Given the description of an element on the screen output the (x, y) to click on. 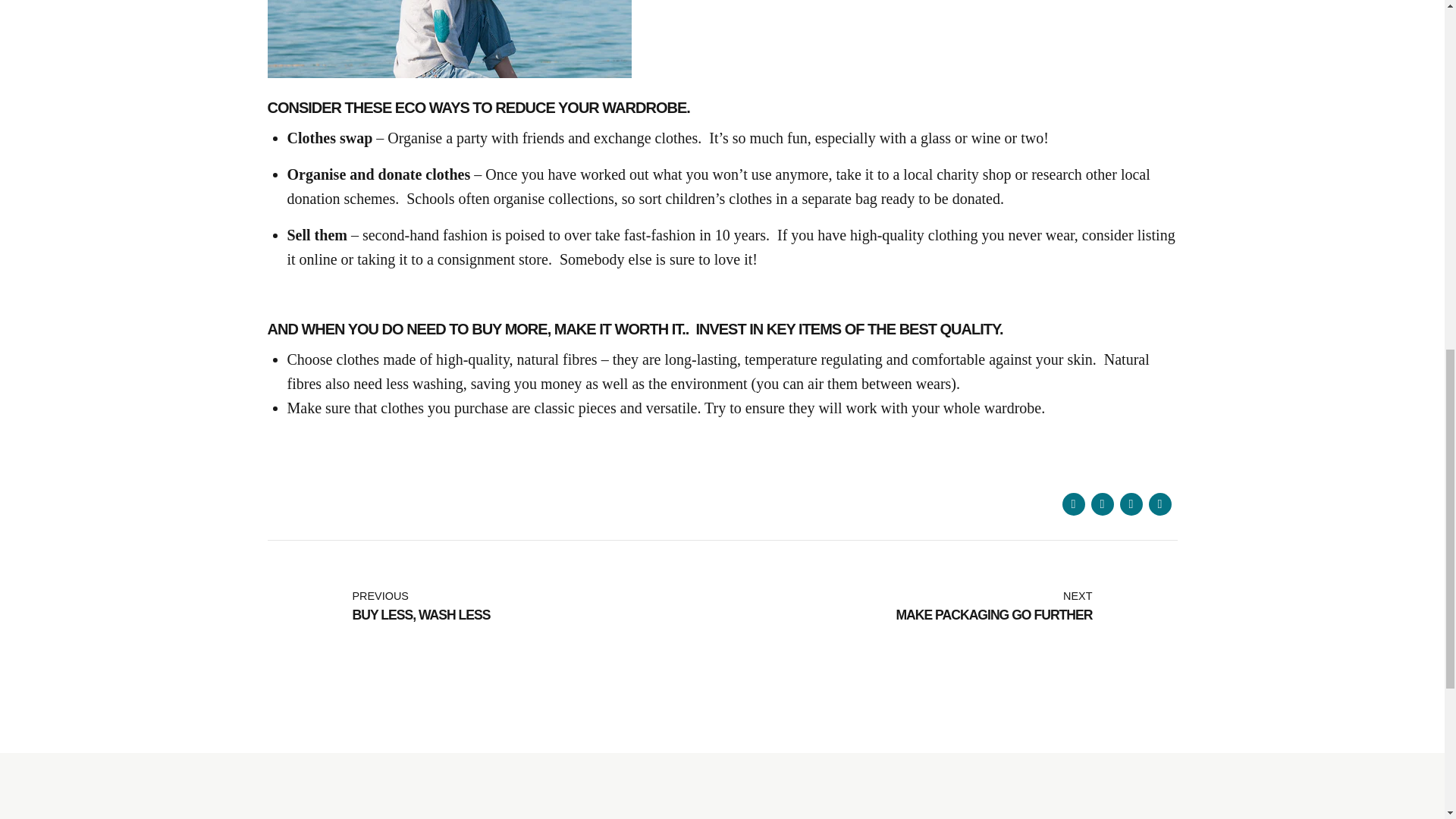
Share on Linkedin (1130, 504)
Share on Facebook (494, 606)
Share on Twitter (1072, 504)
Share on WhatsApp (949, 606)
